Given the description of an element on the screen output the (x, y) to click on. 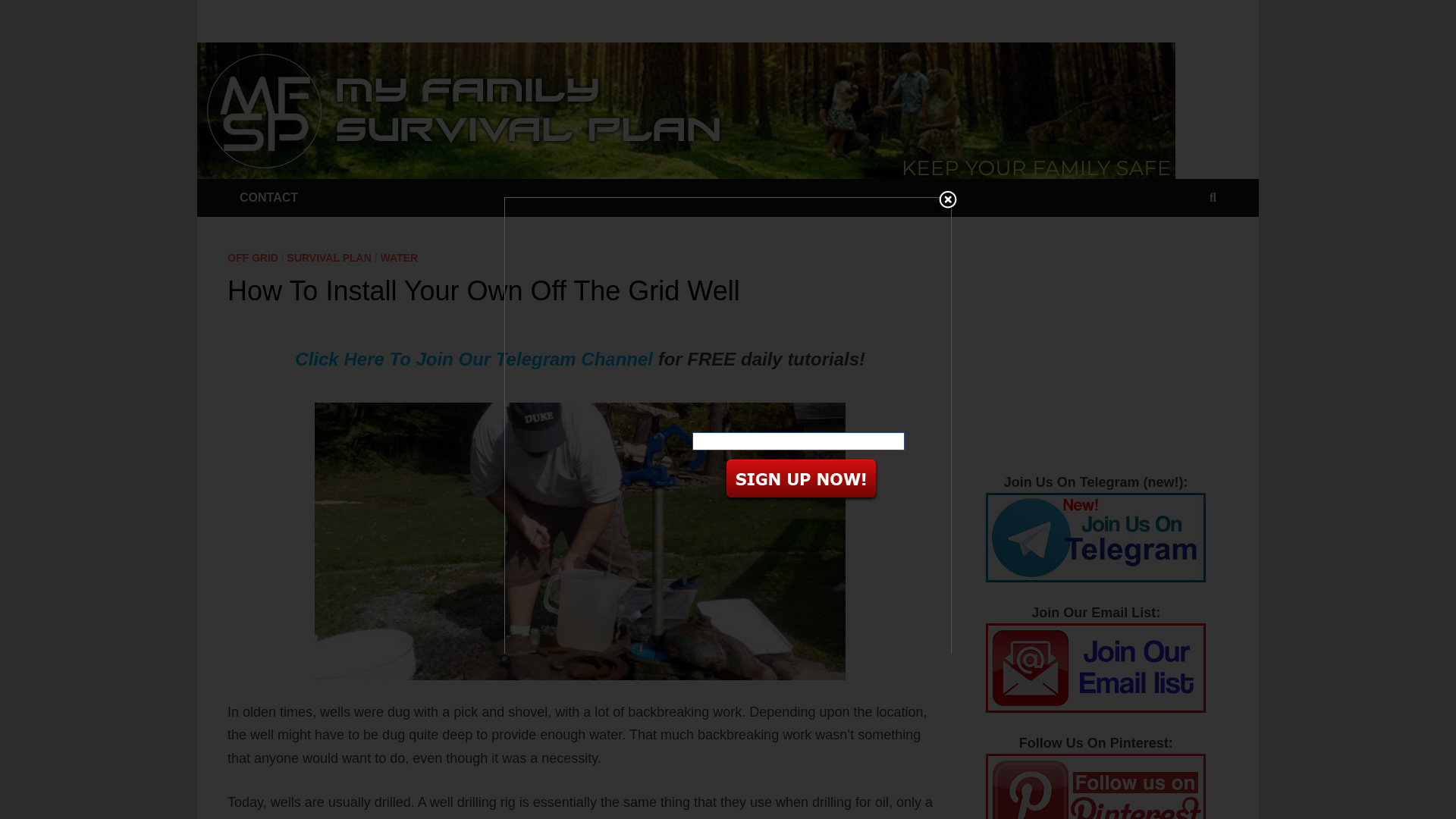
My Family Survival Plan (685, 109)
WATER (398, 257)
SURVIVAL PLAN (328, 257)
OFF GRID (252, 257)
Click Here To Join Our Telegram Channel (473, 358)
CONTACT (268, 198)
